Given the description of an element on the screen output the (x, y) to click on. 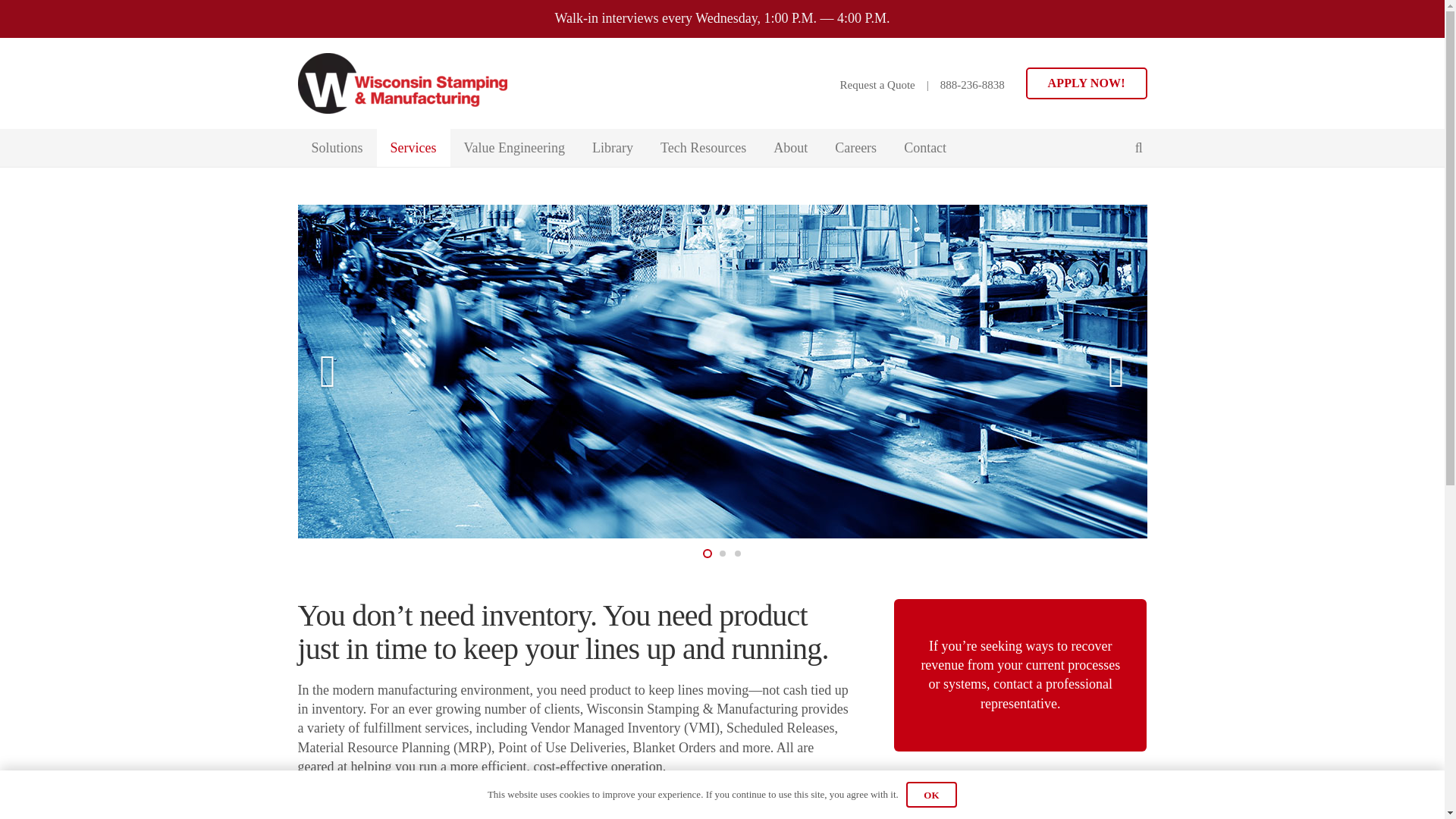
About (790, 147)
Value Engineering (513, 147)
Solutions (336, 147)
Library (612, 147)
Tech Resources (703, 147)
Services (413, 147)
Request a Quote (877, 84)
Careers (855, 147)
Contact (924, 147)
CONTACT A REPRESENTATIVE (1020, 798)
APPLY NOW! (1086, 83)
